Given the description of an element on the screen output the (x, y) to click on. 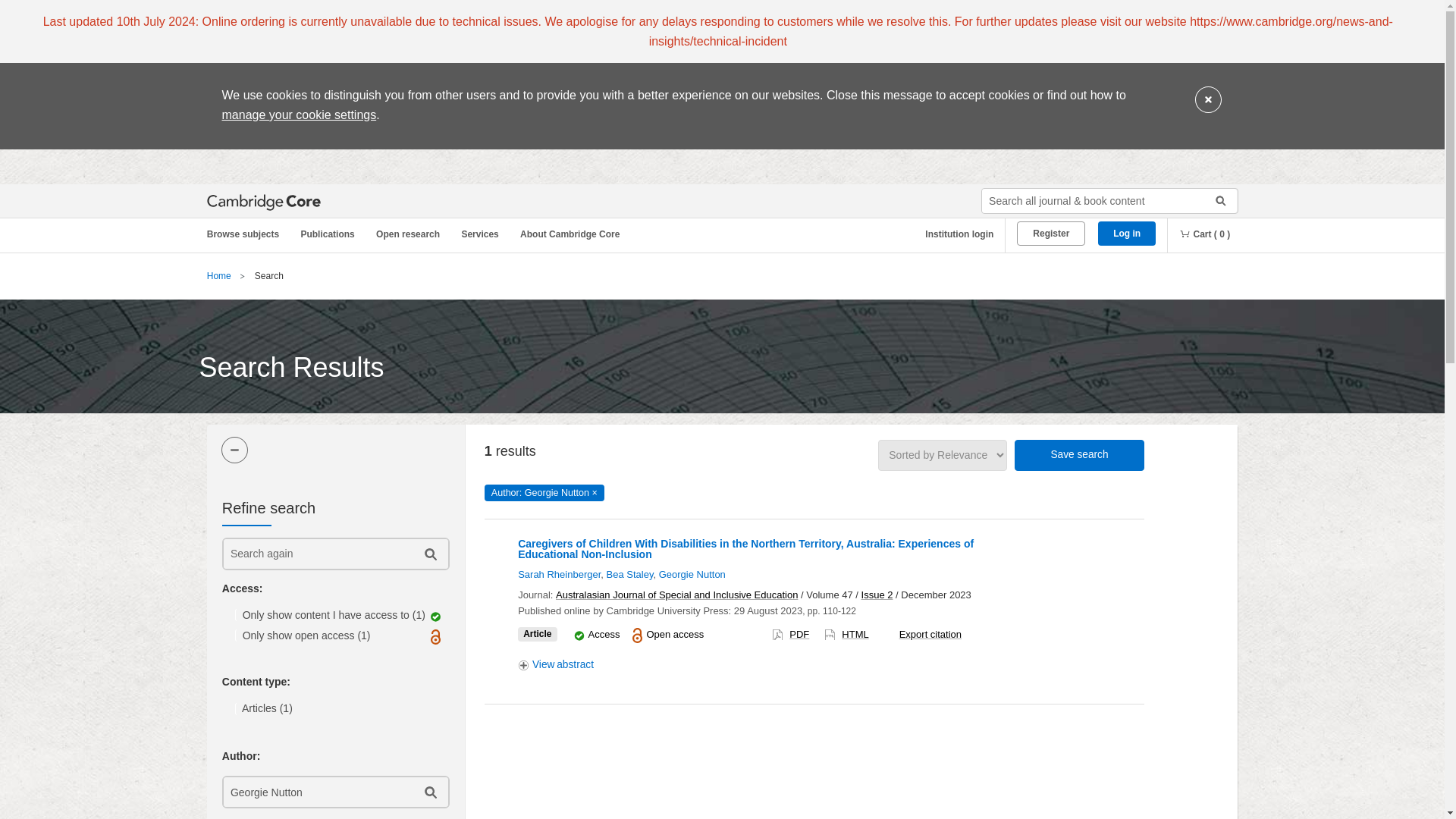
Services (482, 234)
Publications (330, 234)
You have access to this product (604, 633)
manage your cookie settings (298, 114)
Institution login (953, 234)
Close cookie message (1208, 99)
Georgie Nutton (316, 791)
You have access to this product (579, 635)
Submit search (1214, 200)
Submit refine search (429, 553)
Submit author search (429, 791)
Submit author search (429, 791)
Browse subjects (250, 234)
Open research (410, 234)
Submit search (1214, 200)
